Given the description of an element on the screen output the (x, y) to click on. 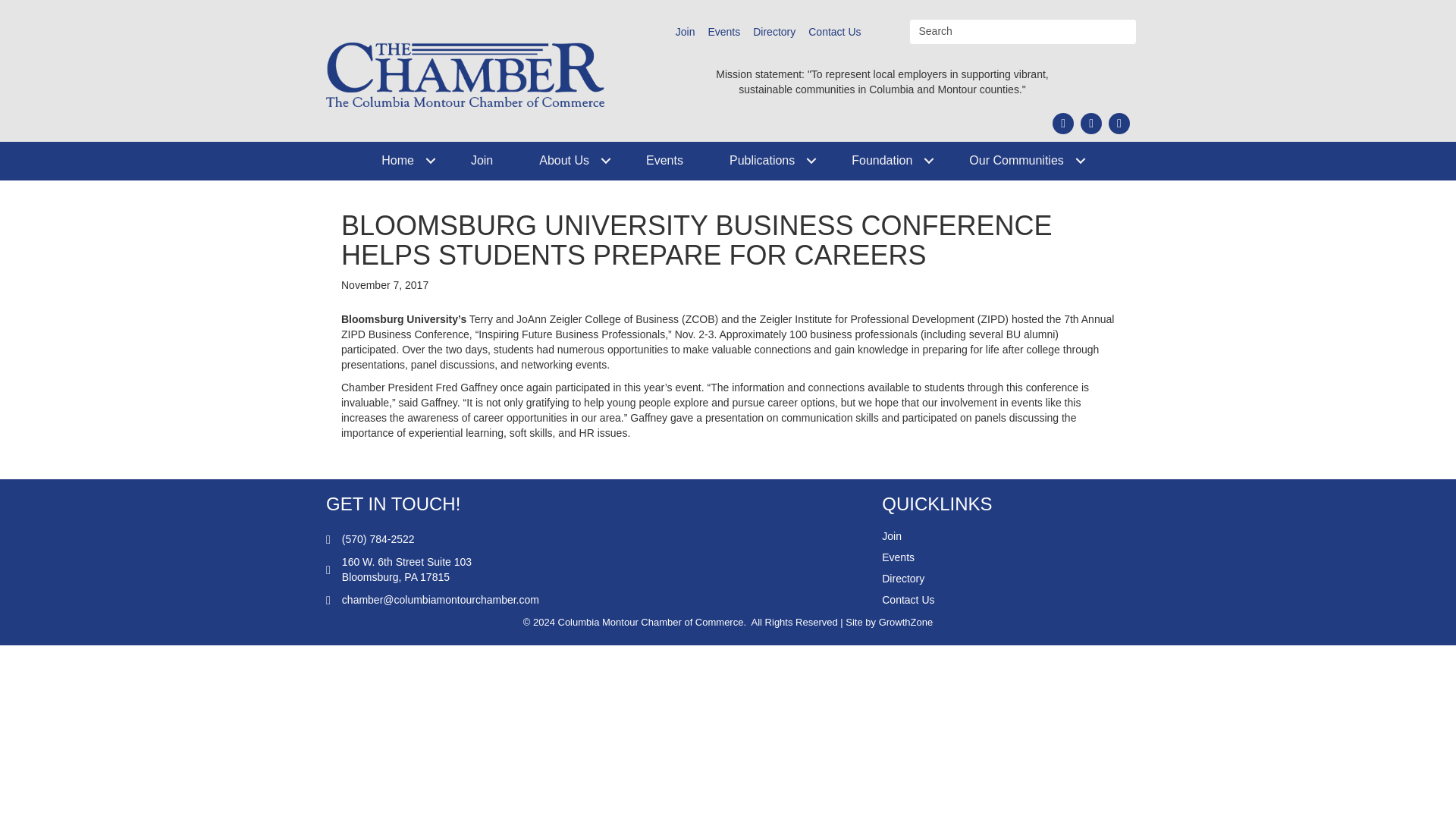
Publications (767, 160)
About Us (569, 160)
Our Communities (1021, 160)
Join (481, 160)
Contact Us (834, 32)
Events (723, 32)
Foundation (886, 160)
Home (402, 160)
Events (664, 160)
Join (685, 32)
